Given the description of an element on the screen output the (x, y) to click on. 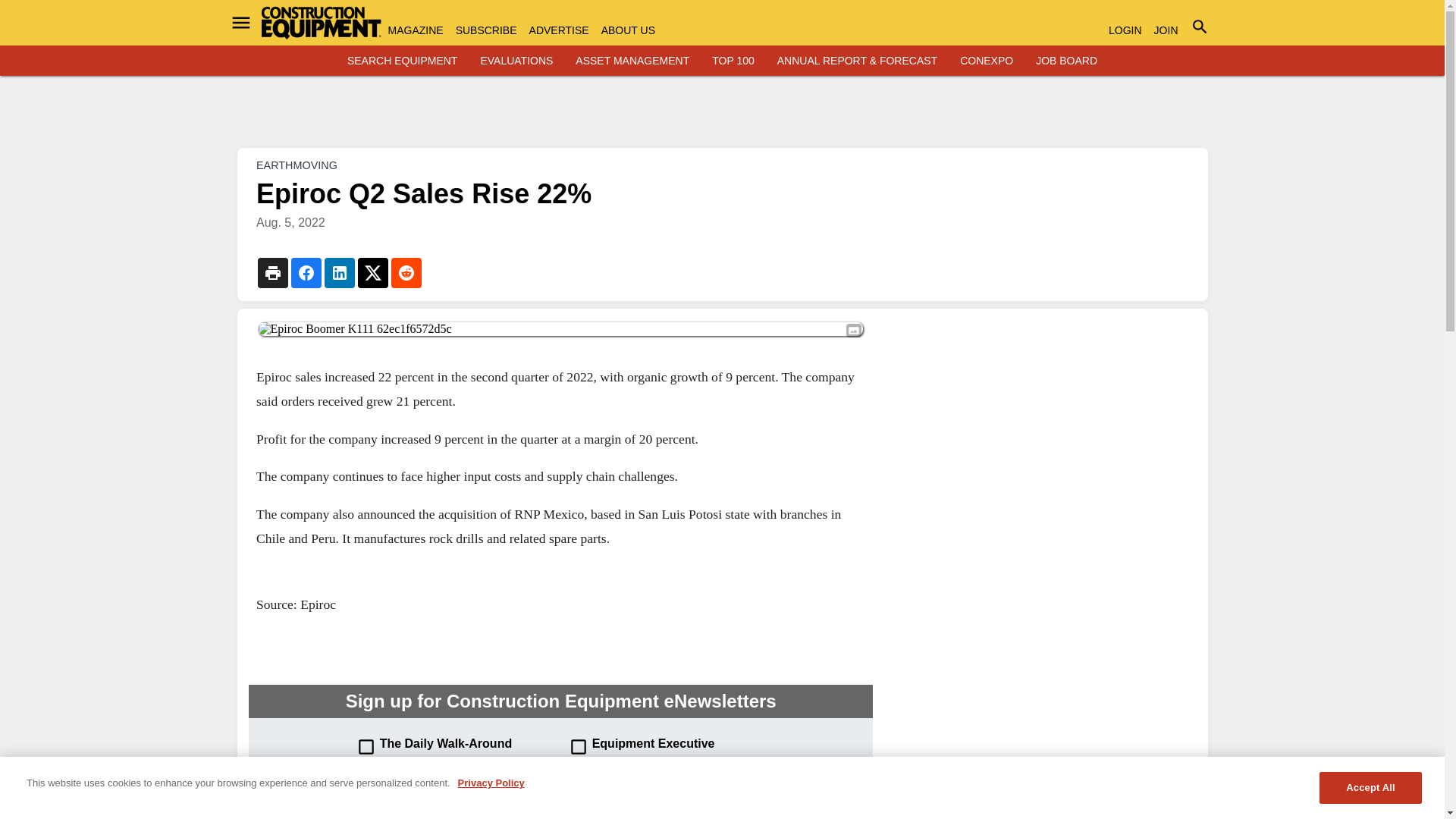
ADVERTISE (559, 30)
TOP 100 (732, 60)
EVALUATIONS (516, 60)
SUBSCRIBE (485, 30)
JOIN (1165, 30)
JOB BOARD (1066, 60)
Epiroc Boomer K111 62ec1f6572d5c (559, 328)
CONEXPO (986, 60)
SEARCH EQUIPMENT (402, 60)
LOGIN (1124, 30)
